Given the description of an element on the screen output the (x, y) to click on. 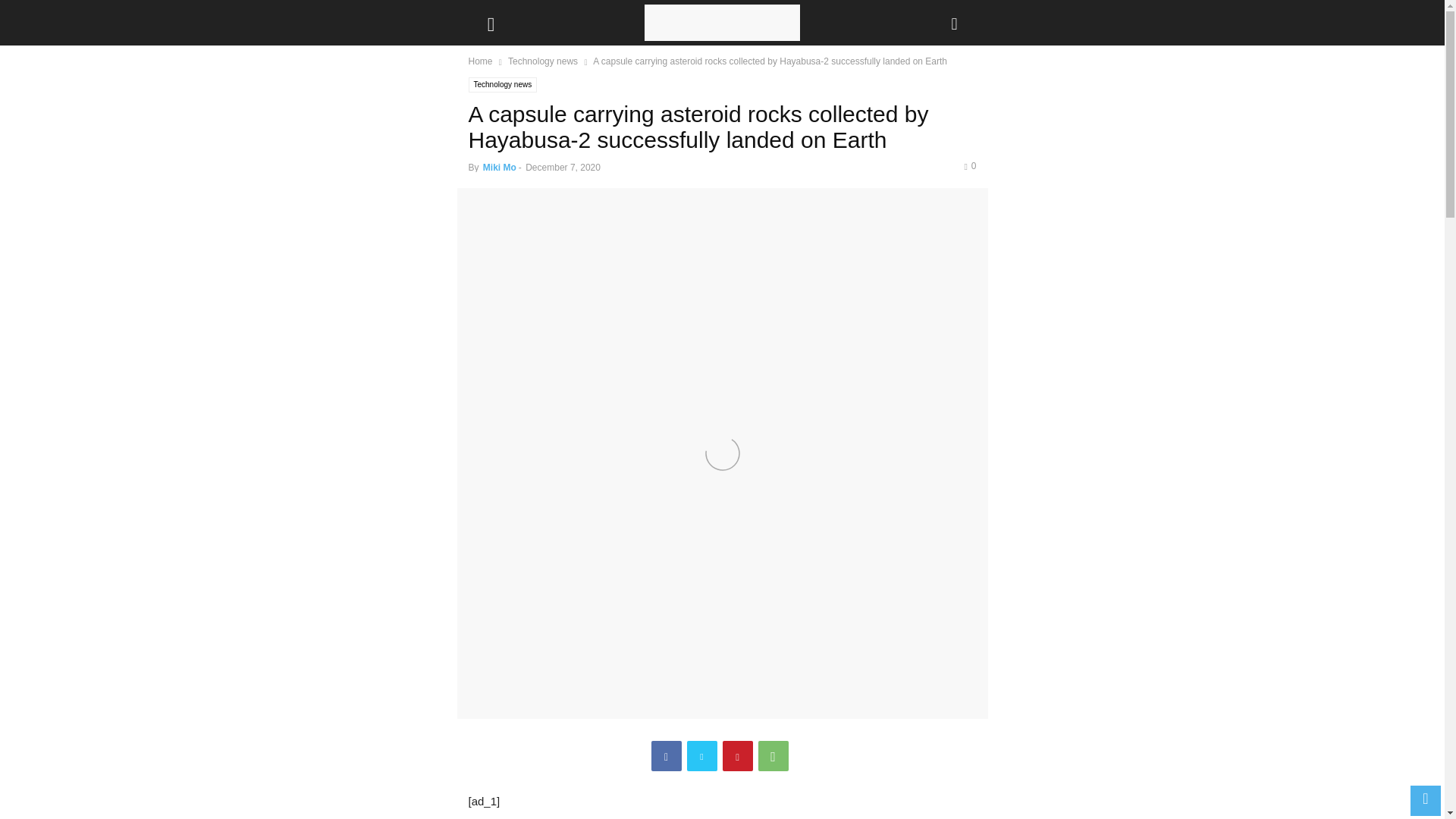
Pinterest (737, 756)
Technology news (543, 61)
Technology news (502, 84)
Twitter (702, 756)
Facebook (665, 756)
View all posts in Technology news (543, 61)
0 (969, 165)
WhatsApp (773, 756)
Home (480, 61)
Miki Mo (499, 167)
